Given the description of an element on the screen output the (x, y) to click on. 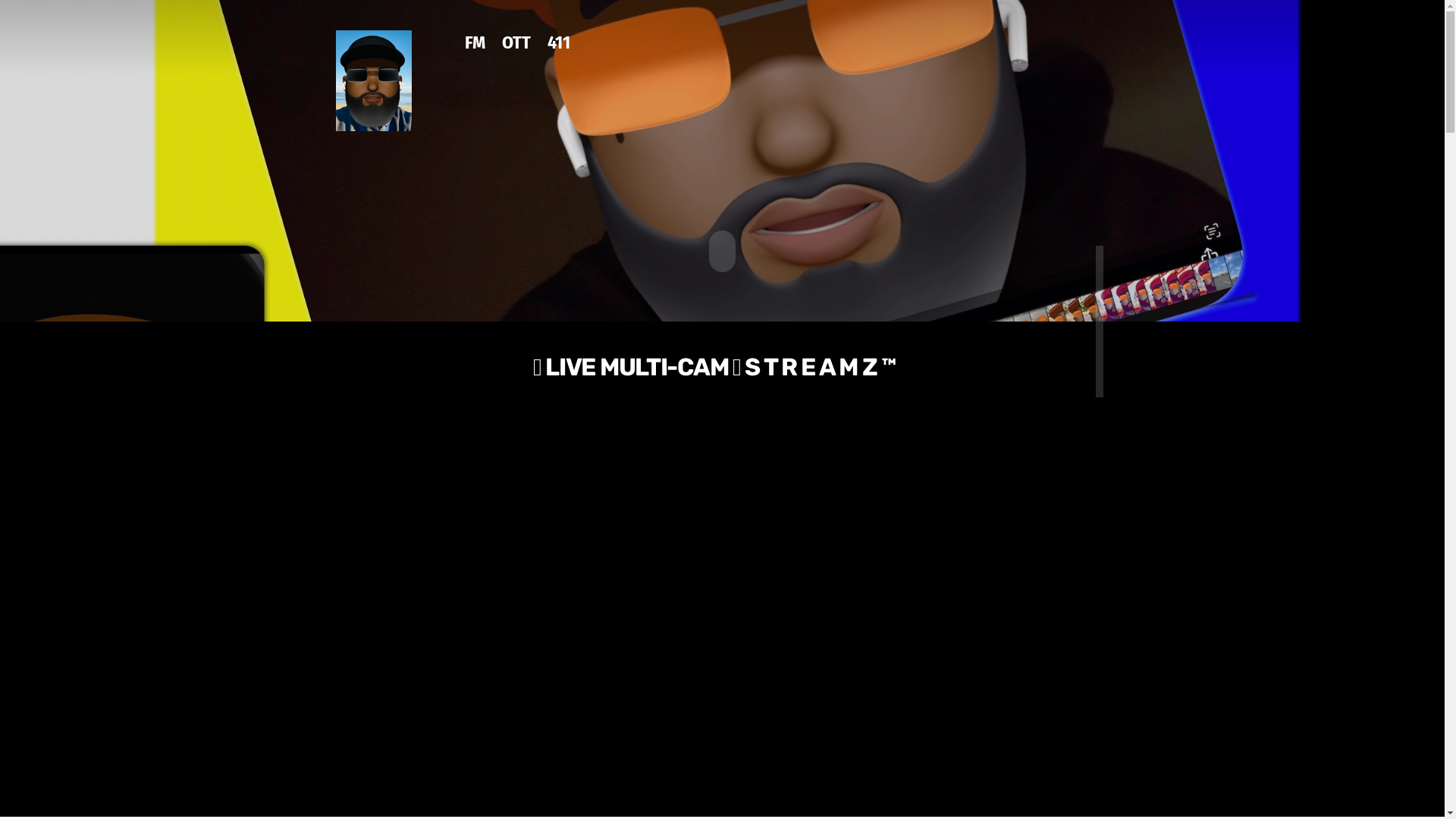
OTT Element type: text (516, 53)
411 Element type: text (558, 53)
FM Element type: text (474, 53)
